Given the description of an element on the screen output the (x, y) to click on. 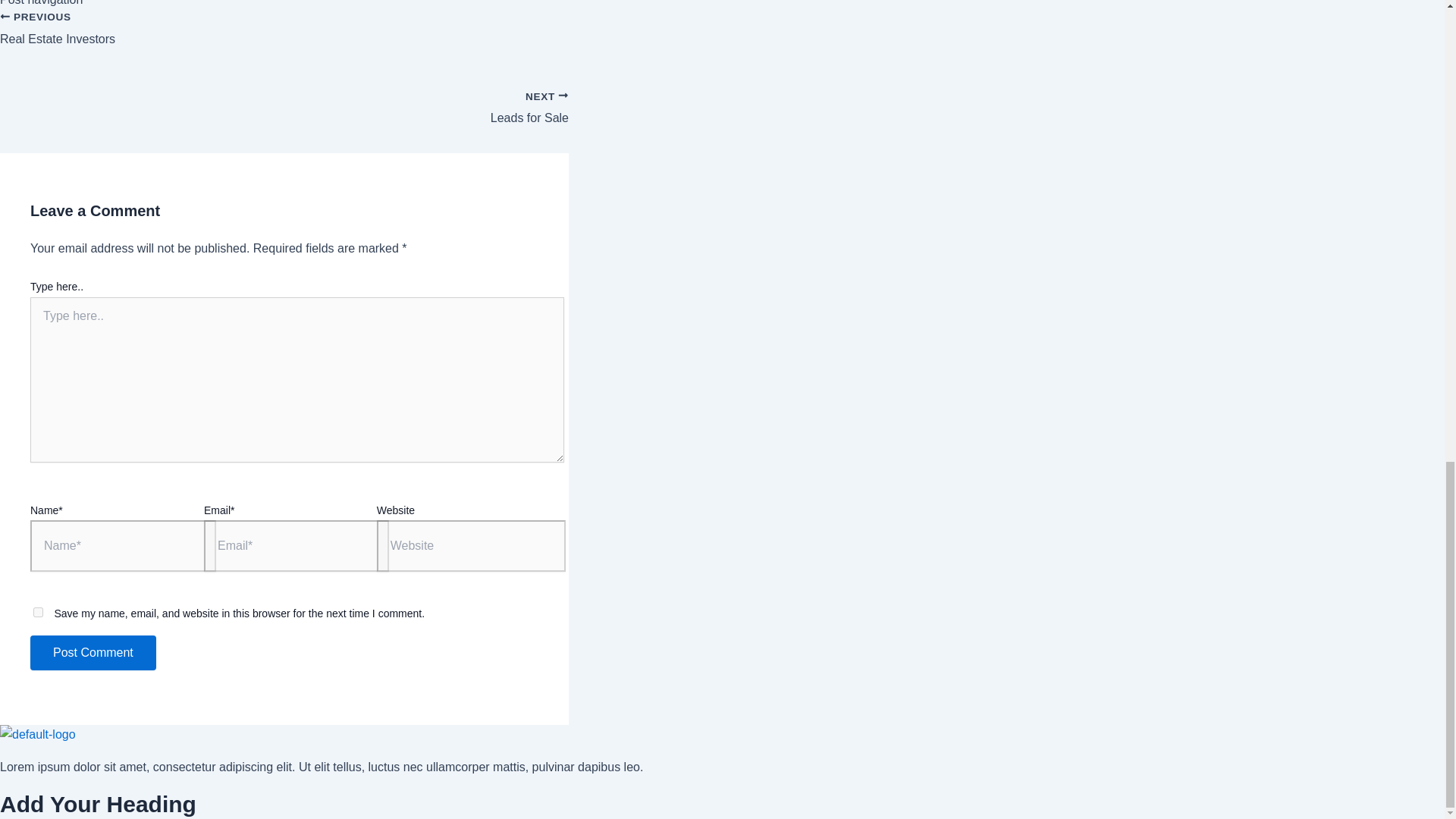
Real Estate Investors (284, 37)
yes (38, 612)
Leads for Sale (284, 99)
Post Comment (284, 37)
Post Comment (284, 99)
